Given the description of an element on the screen output the (x, y) to click on. 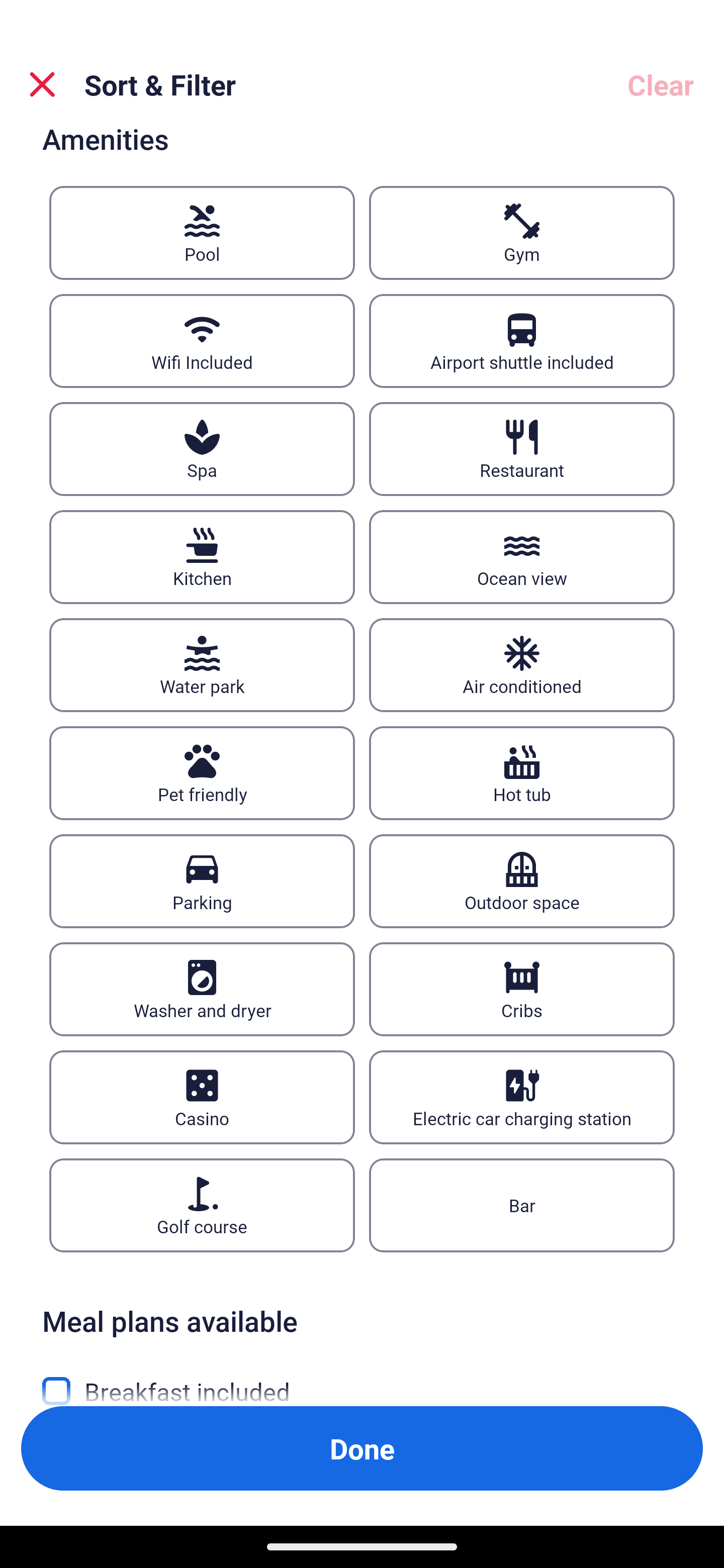
Close Sort and Filter (42, 84)
Clear (660, 84)
Pool (201, 233)
Gym (521, 233)
Wifi Included (201, 340)
Airport shuttle included (521, 340)
Spa (201, 448)
Restaurant (521, 448)
Kitchen (201, 556)
Ocean view (521, 556)
Water park (201, 664)
Air conditioned (521, 664)
Pet friendly (201, 772)
Hot tub (521, 772)
Parking (201, 881)
Outdoor space (521, 881)
Washer and dryer (201, 989)
Cribs (521, 989)
Casino (201, 1097)
Electric car charging station (521, 1097)
Golf course (201, 1205)
Bar (521, 1205)
Breakfast included, Breakfast included (361, 1378)
Apply and close Sort and Filter Done (361, 1448)
